Given the description of an element on the screen output the (x, y) to click on. 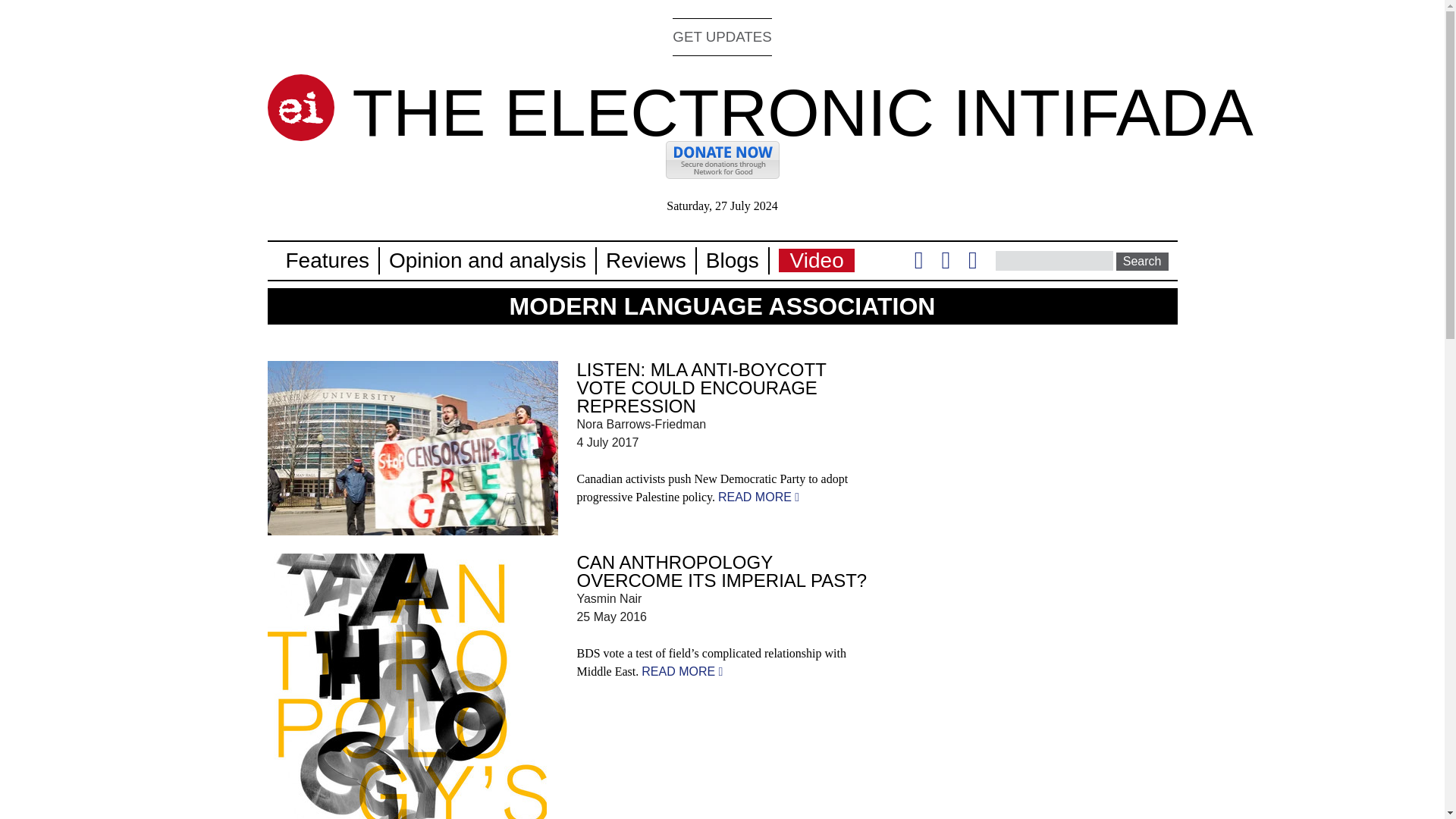
GET UPDATES (721, 37)
Home (299, 107)
LISTEN: MLA ANTI-BOYCOTT VOTE COULD ENCOURAGE REPRESSION (700, 387)
Listen: MLA anti-boycott vote could encourage repression (758, 496)
Opinion and analysis (487, 259)
CAN ANTHROPOLOGY OVERCOME ITS IMPERIAL PAST? (721, 571)
Can anthropology overcome its imperial past? (682, 671)
Reviews (645, 259)
Home (802, 112)
Features (327, 259)
Search (1142, 261)
Blogs (732, 259)
Video (817, 259)
THE ELECTRONIC INTIFADA (802, 112)
